Given the description of an element on the screen output the (x, y) to click on. 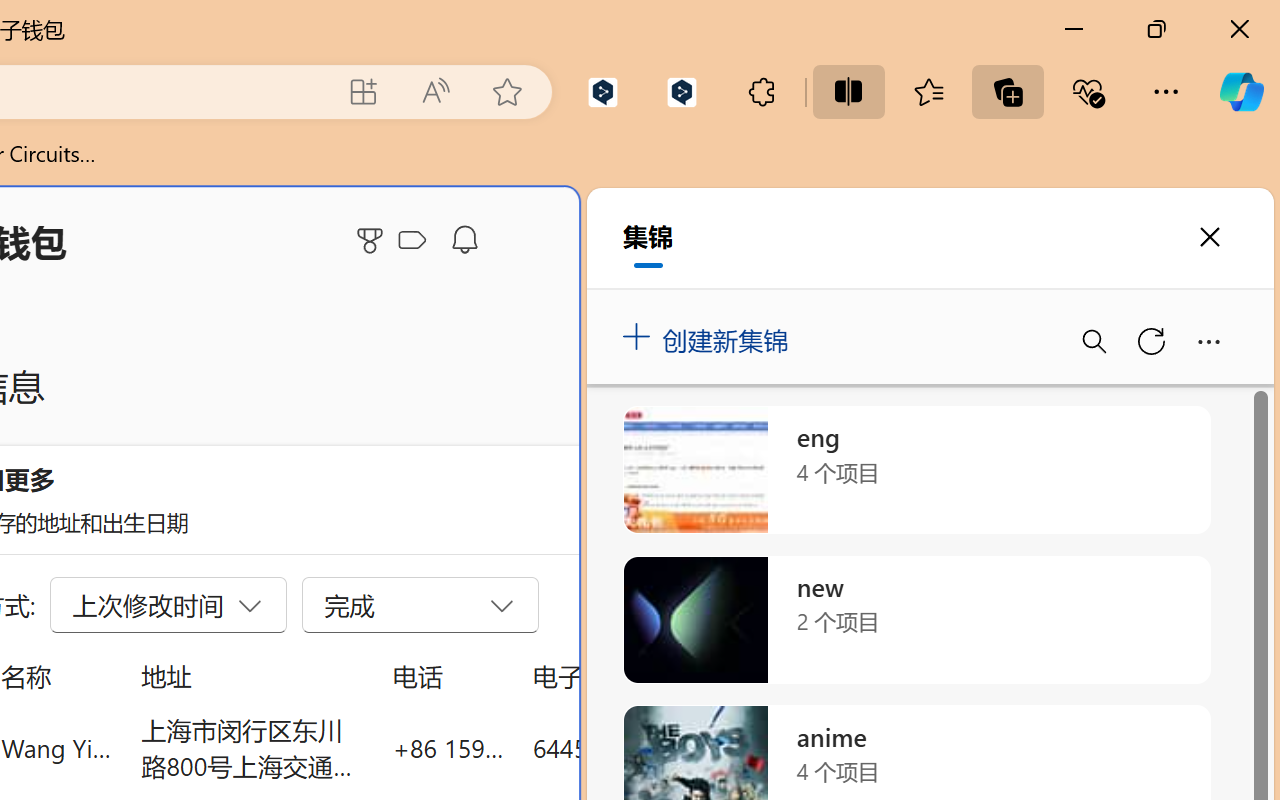
Microsoft Cashback (415, 241)
+86 159 0032 4640 (447, 747)
Copilot (Ctrl+Shift+.) (1241, 91)
644553698@qq.com (644, 747)
Class: ___1lmltc5 f1agt3bx f12qytpq (411, 241)
Microsoft Rewards (373, 240)
